Given the description of an element on the screen output the (x, y) to click on. 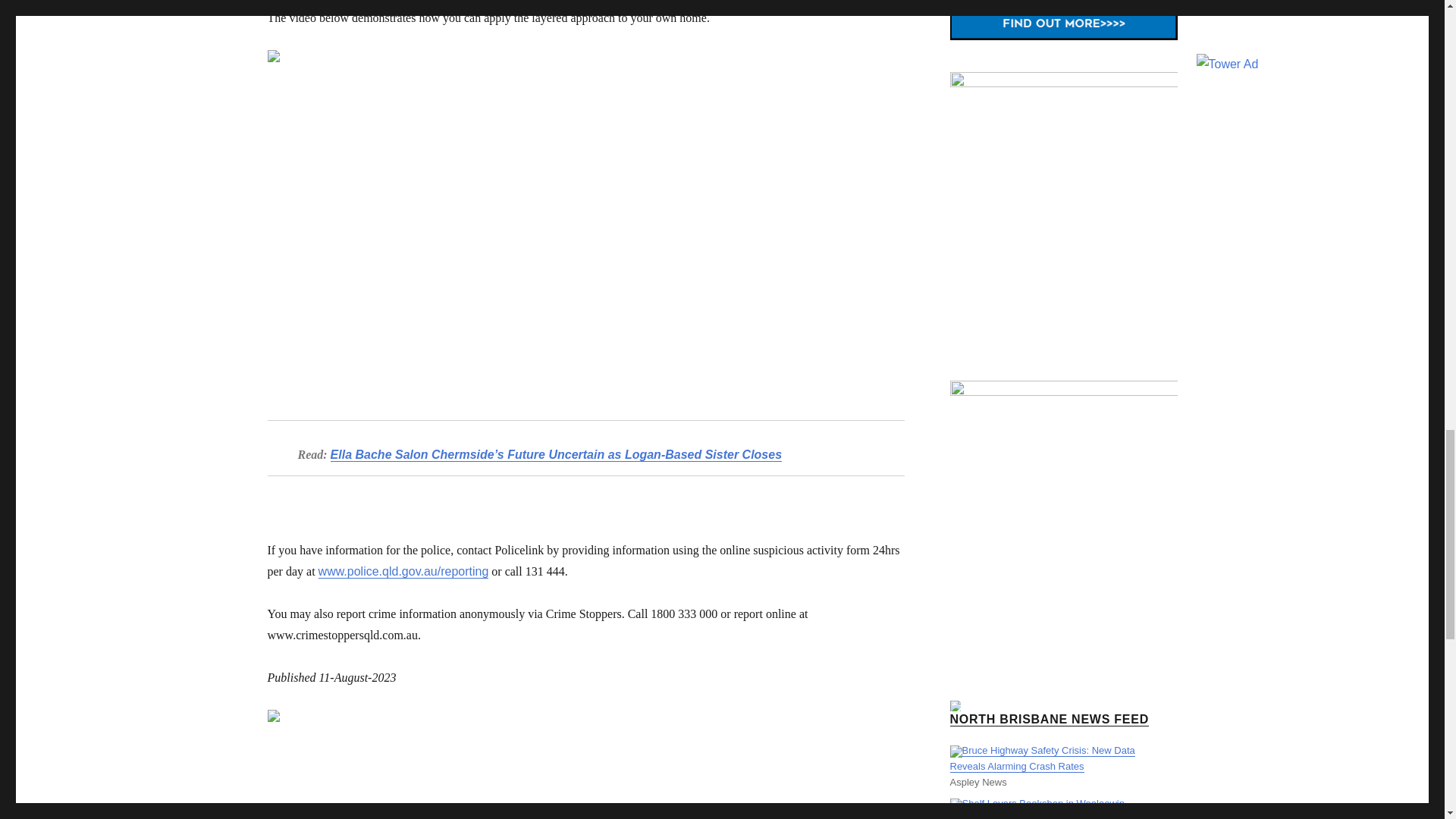
NORTH BRISBANE NEWS FEED (1048, 718)
